Given the description of an element on the screen output the (x, y) to click on. 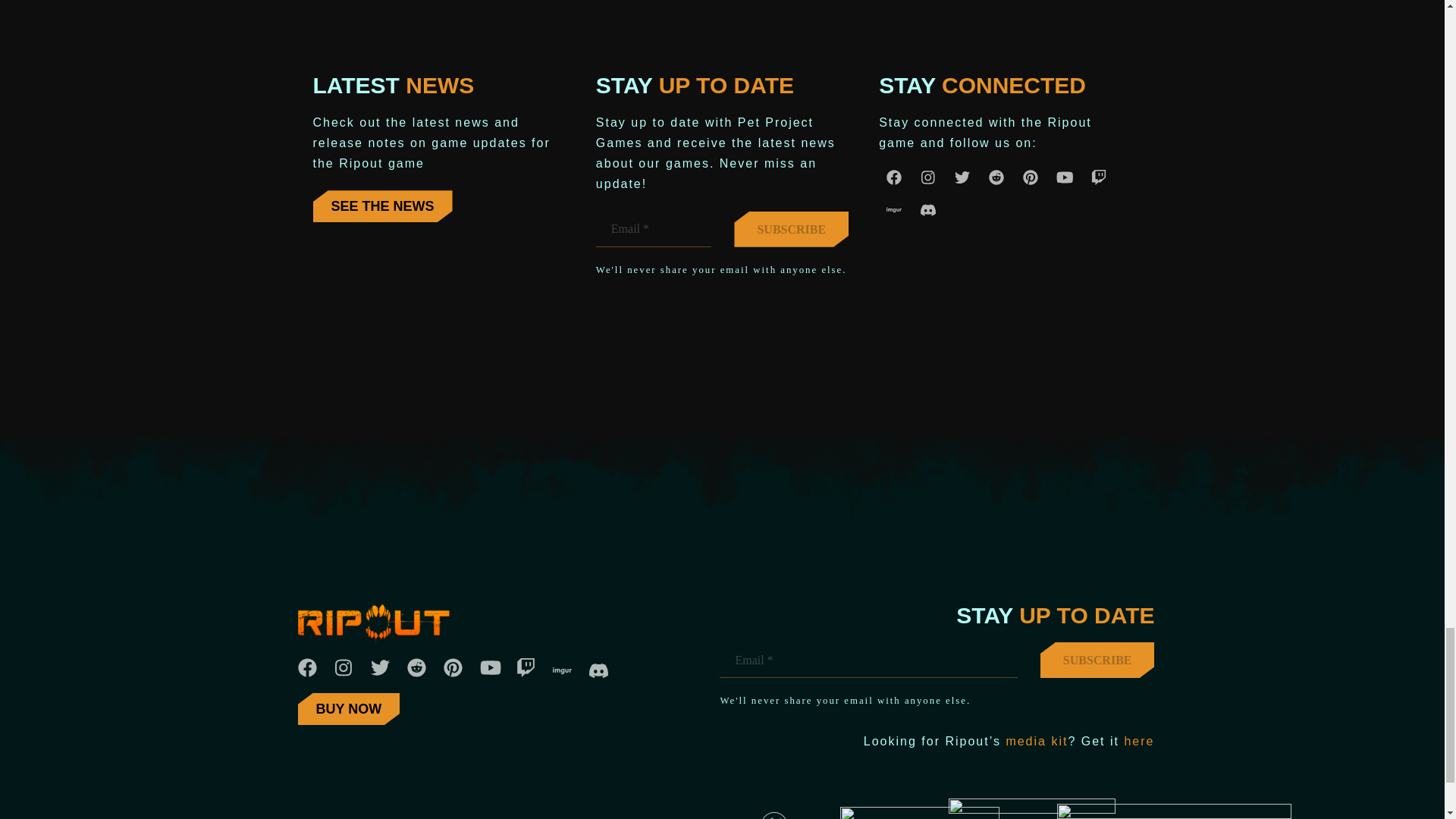
SEE THE NEWS (382, 205)
Subscribe (790, 229)
Subscribe (1097, 660)
Subscribe (790, 229)
